Given the description of an element on the screen output the (x, y) to click on. 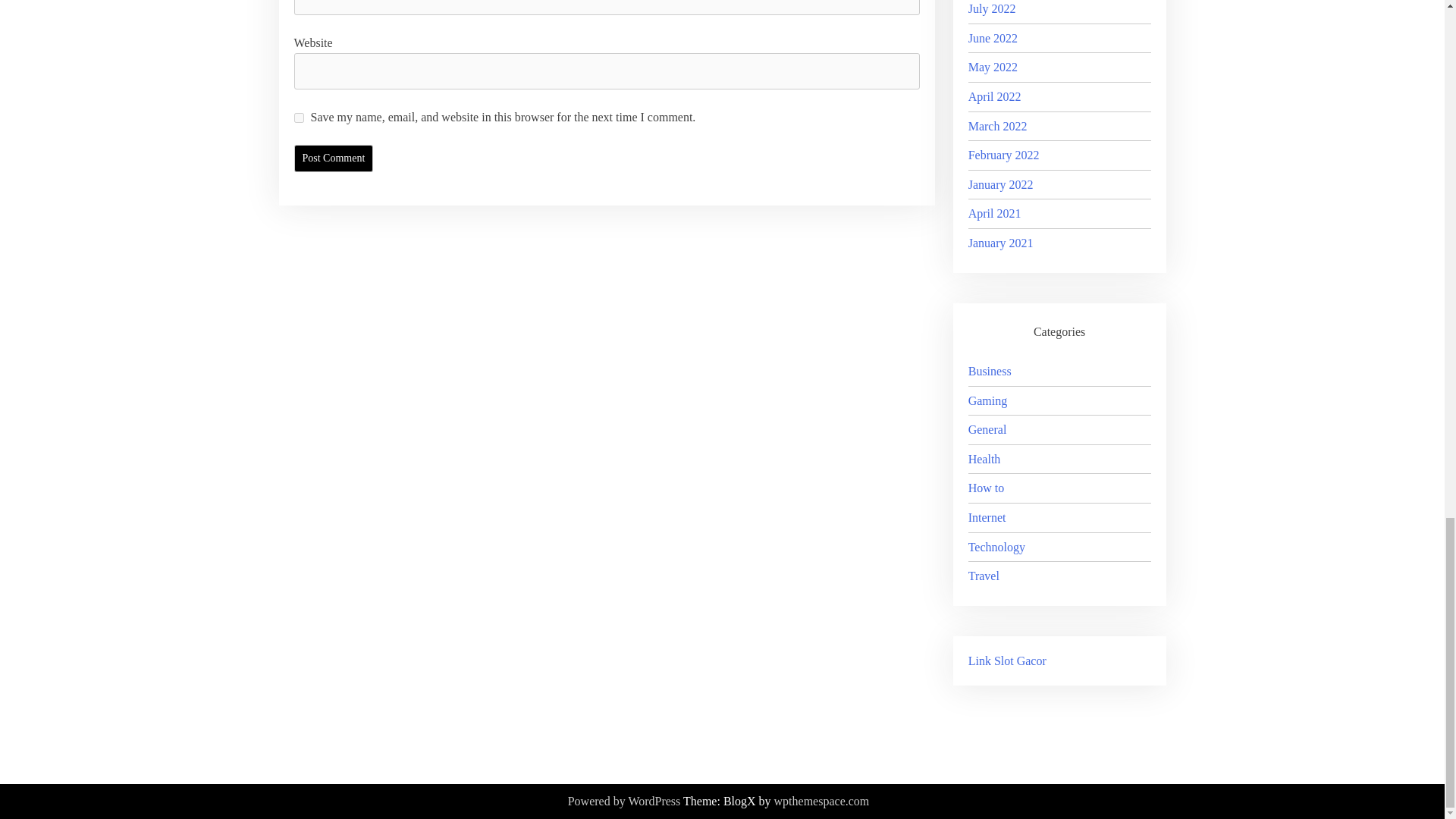
yes (299, 117)
Post Comment (334, 157)
Post Comment (334, 157)
